Given the description of an element on the screen output the (x, y) to click on. 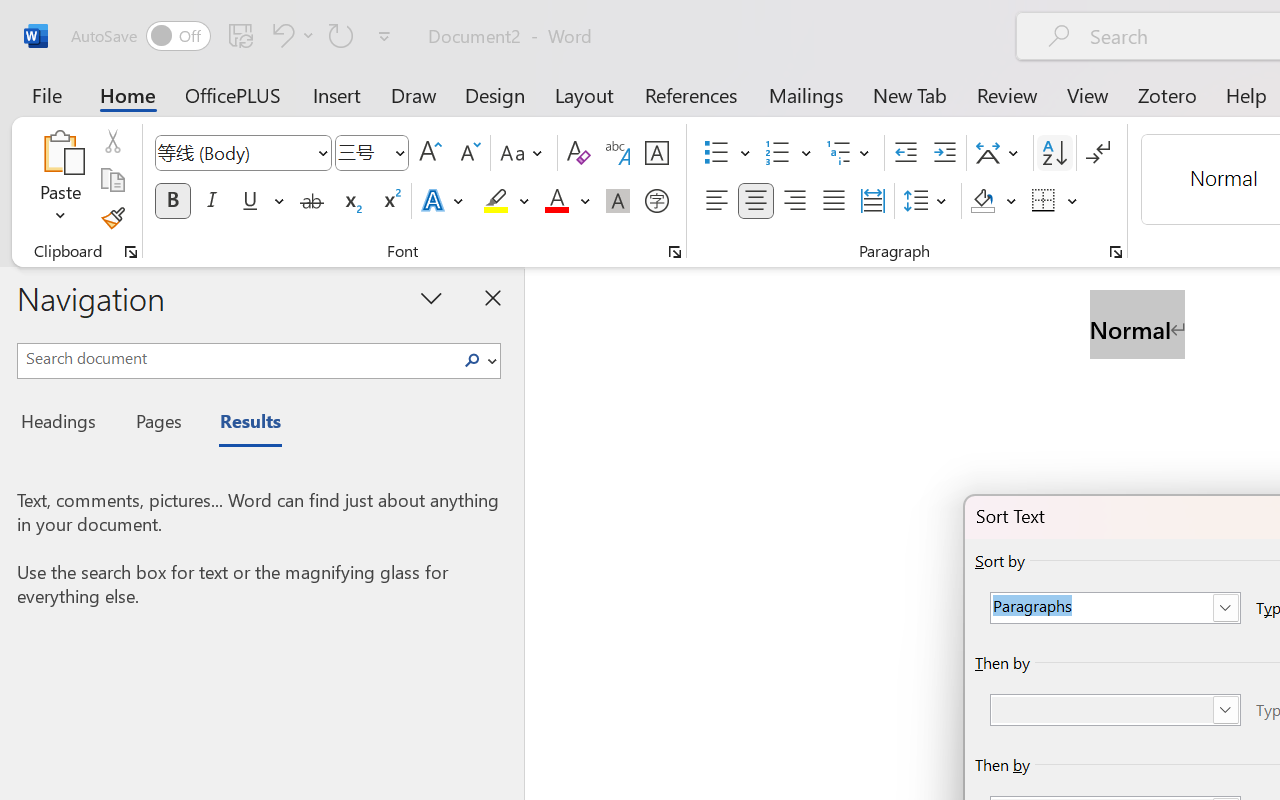
New Tab (909, 94)
Grow Font (430, 153)
Align Right (794, 201)
Shading (993, 201)
Font Color (567, 201)
Font Color Red (556, 201)
Line and Paragraph Spacing (927, 201)
Repeat Doc Close (341, 35)
Mailings (806, 94)
Character Shading (618, 201)
Shading RGB(0, 0, 0) (982, 201)
Subscript (350, 201)
Copy (112, 179)
Justify (834, 201)
